Given the description of an element on the screen output the (x, y) to click on. 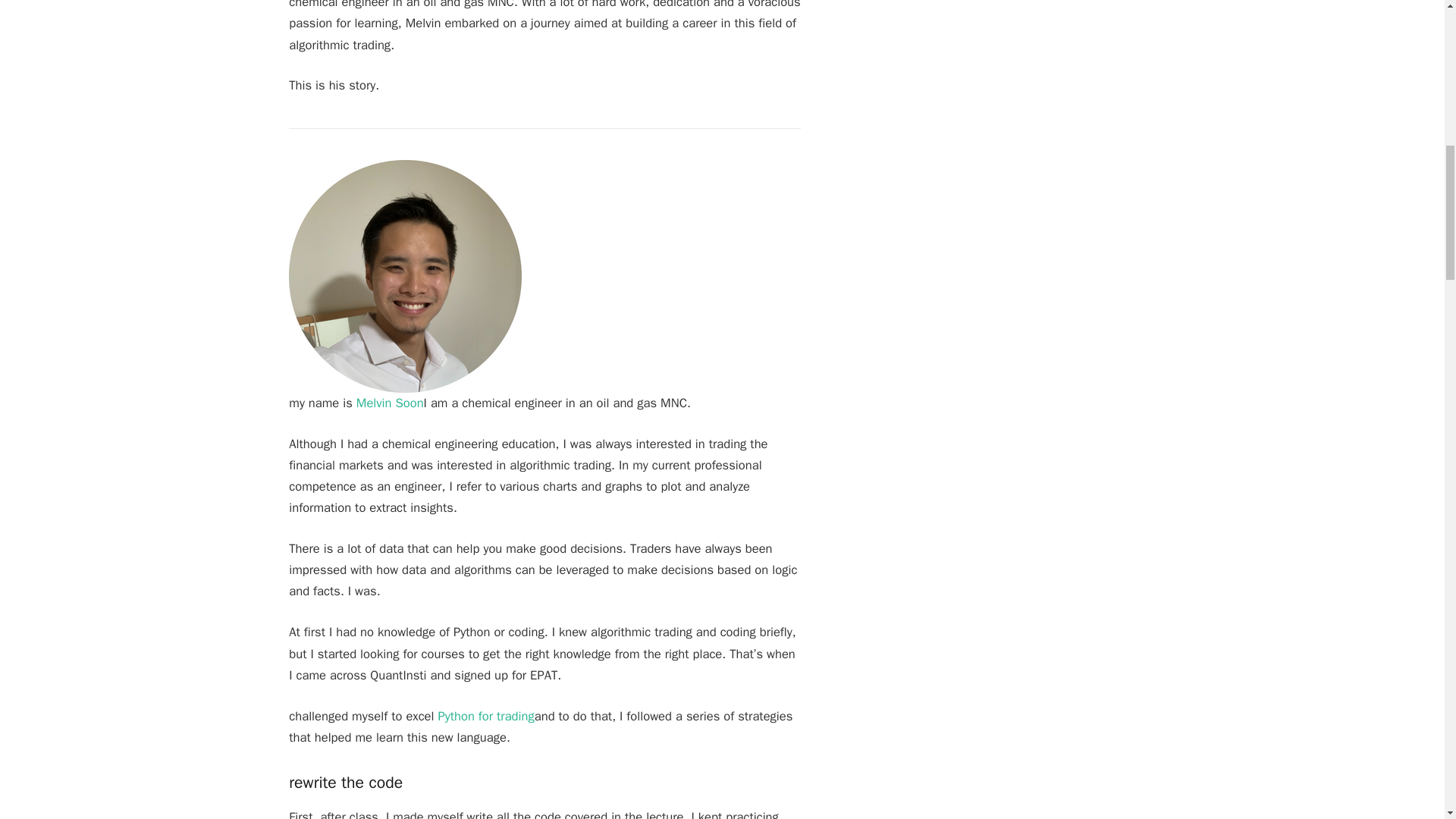
Melvin Soon (389, 402)
Python for trading (486, 715)
